Given the description of an element on the screen output the (x, y) to click on. 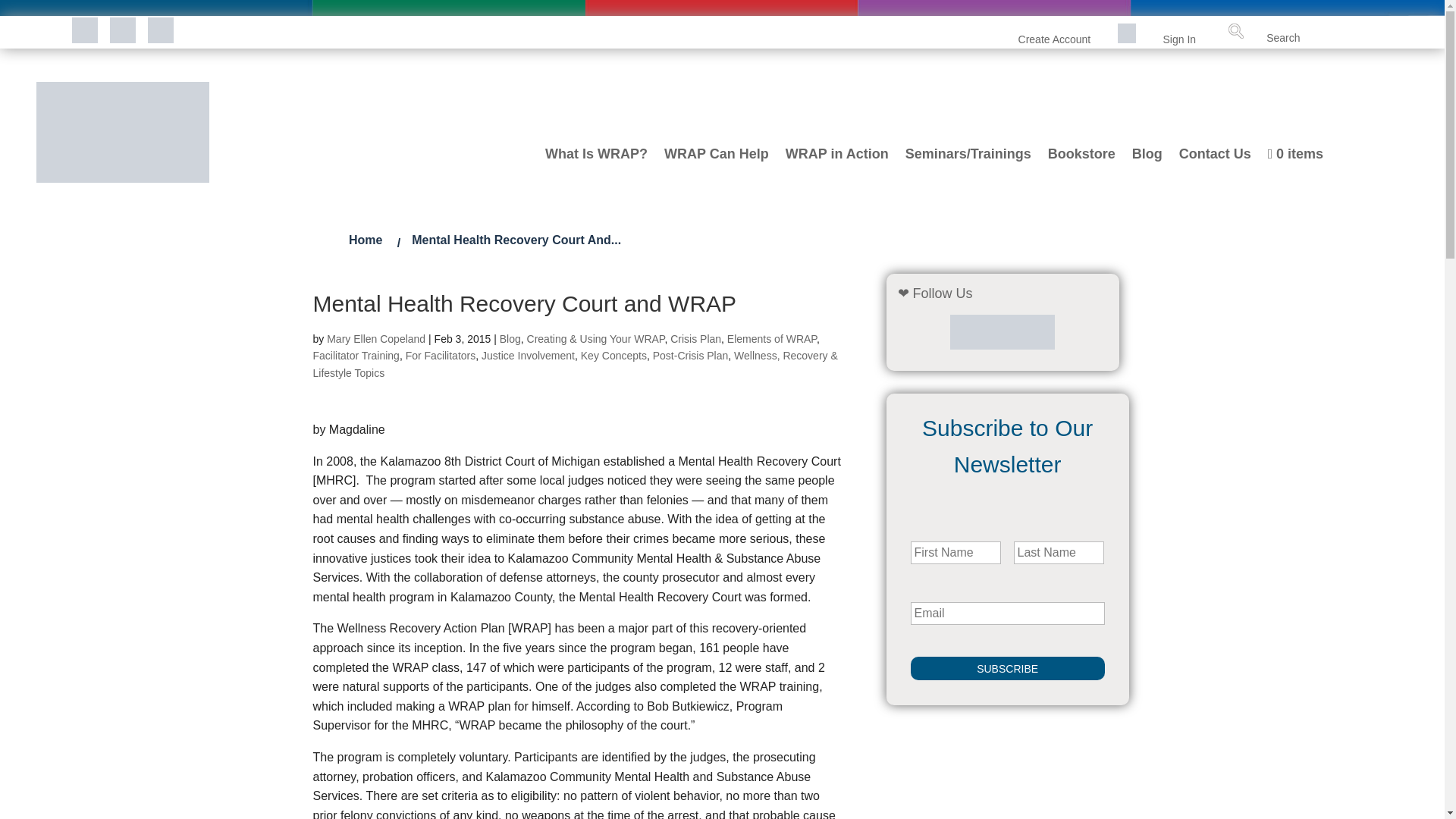
WRAP Can Help (715, 166)
Contact Us (1214, 166)
Posts by Mary Ellen Copeland (375, 338)
Bookstore (1081, 166)
Search (1409, 33)
Mental Health Recovery Court and WRAP (516, 240)
Create Account (1053, 39)
What Is WRAP? (595, 166)
Search (1409, 33)
Subscribe (1008, 668)
